Given the description of an element on the screen output the (x, y) to click on. 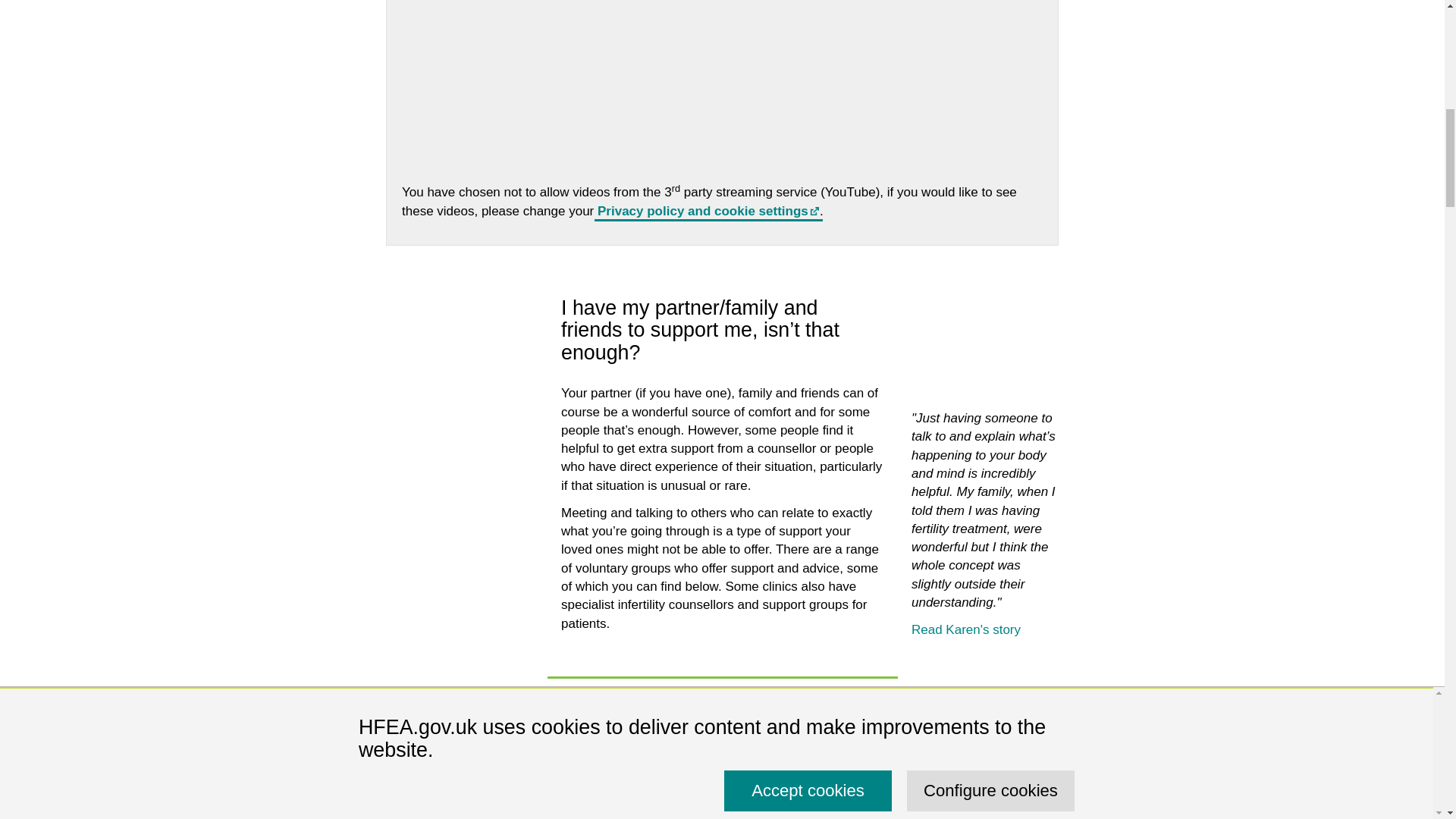
Karen's story (965, 629)
Visit the 'Privacy policy and cookies' page (708, 210)
